Given the description of an element on the screen output the (x, y) to click on. 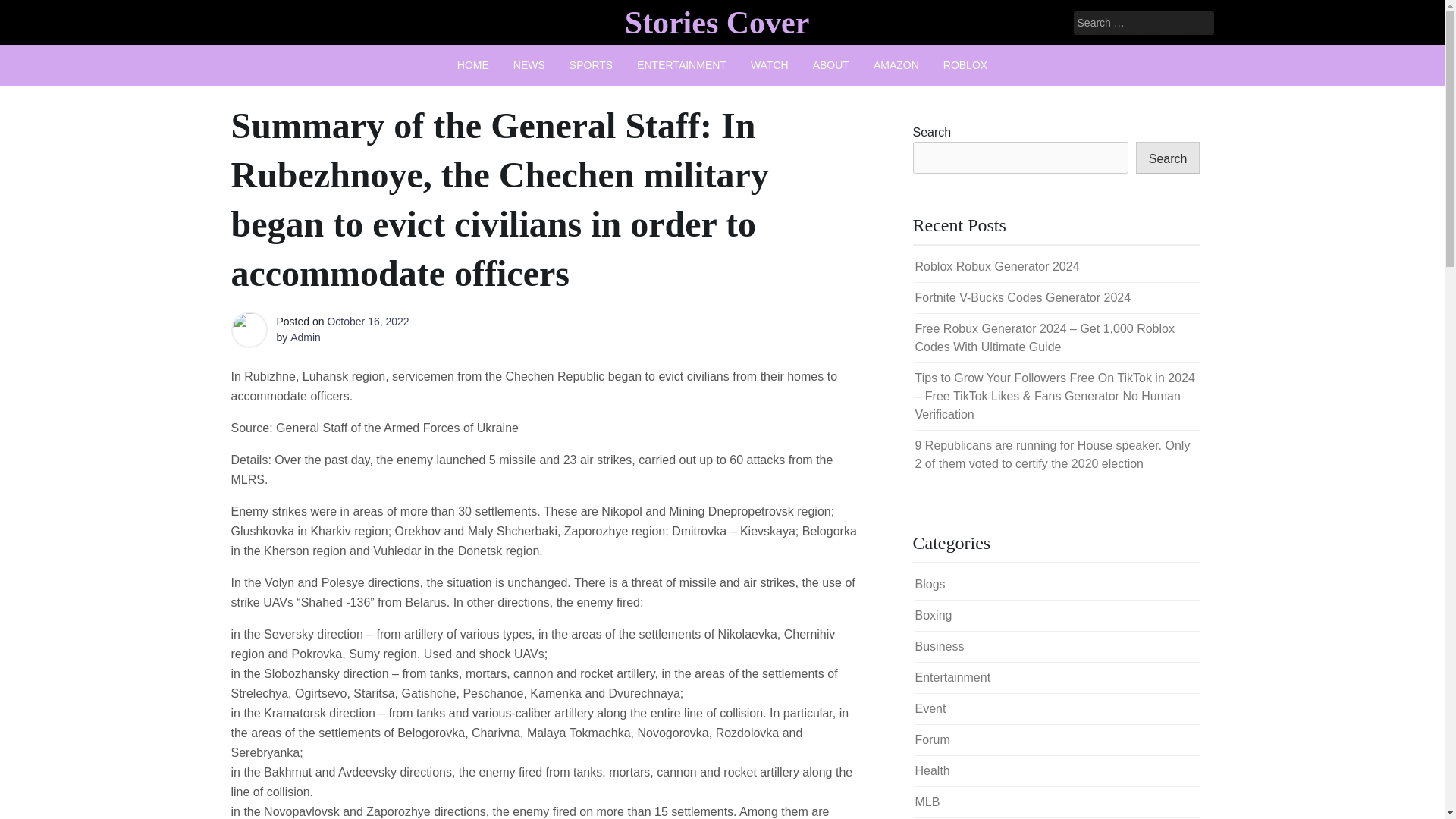
AMAZON (896, 65)
October 16, 2022 (367, 321)
NEWS (528, 65)
Search (32, 12)
Admin (304, 337)
ROBLOX (964, 65)
Stories Cover (716, 22)
SPORTS (590, 65)
ABOUT (830, 65)
ENTERTAINMENT (681, 65)
HOME (472, 65)
WATCH (769, 65)
